Given the description of an element on the screen output the (x, y) to click on. 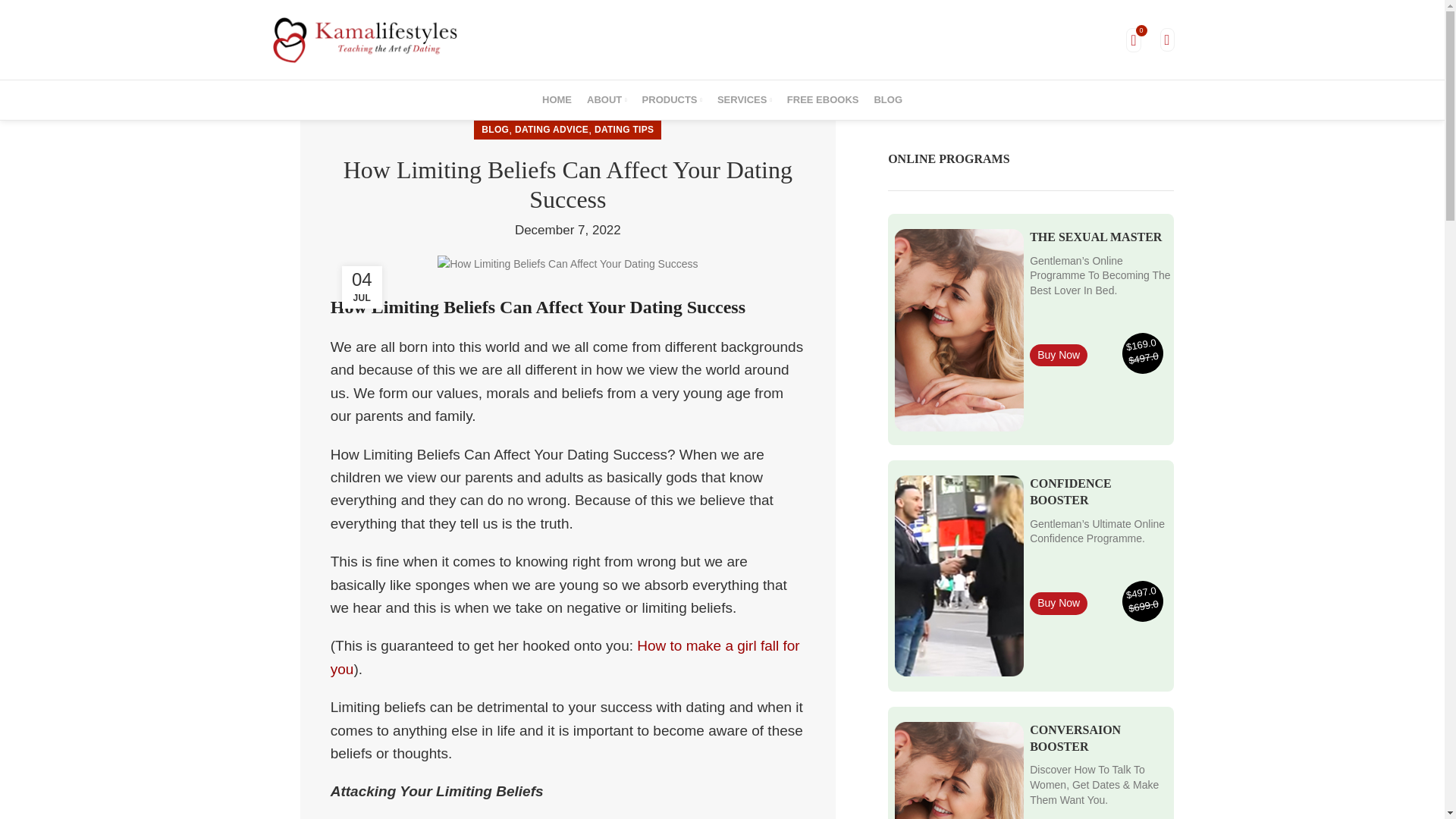
PRODUCTS (672, 100)
My account (1167, 39)
ABOUT (606, 100)
Shopping cart (1133, 39)
0 (1133, 39)
HOME (556, 100)
